Given the description of an element on the screen output the (x, y) to click on. 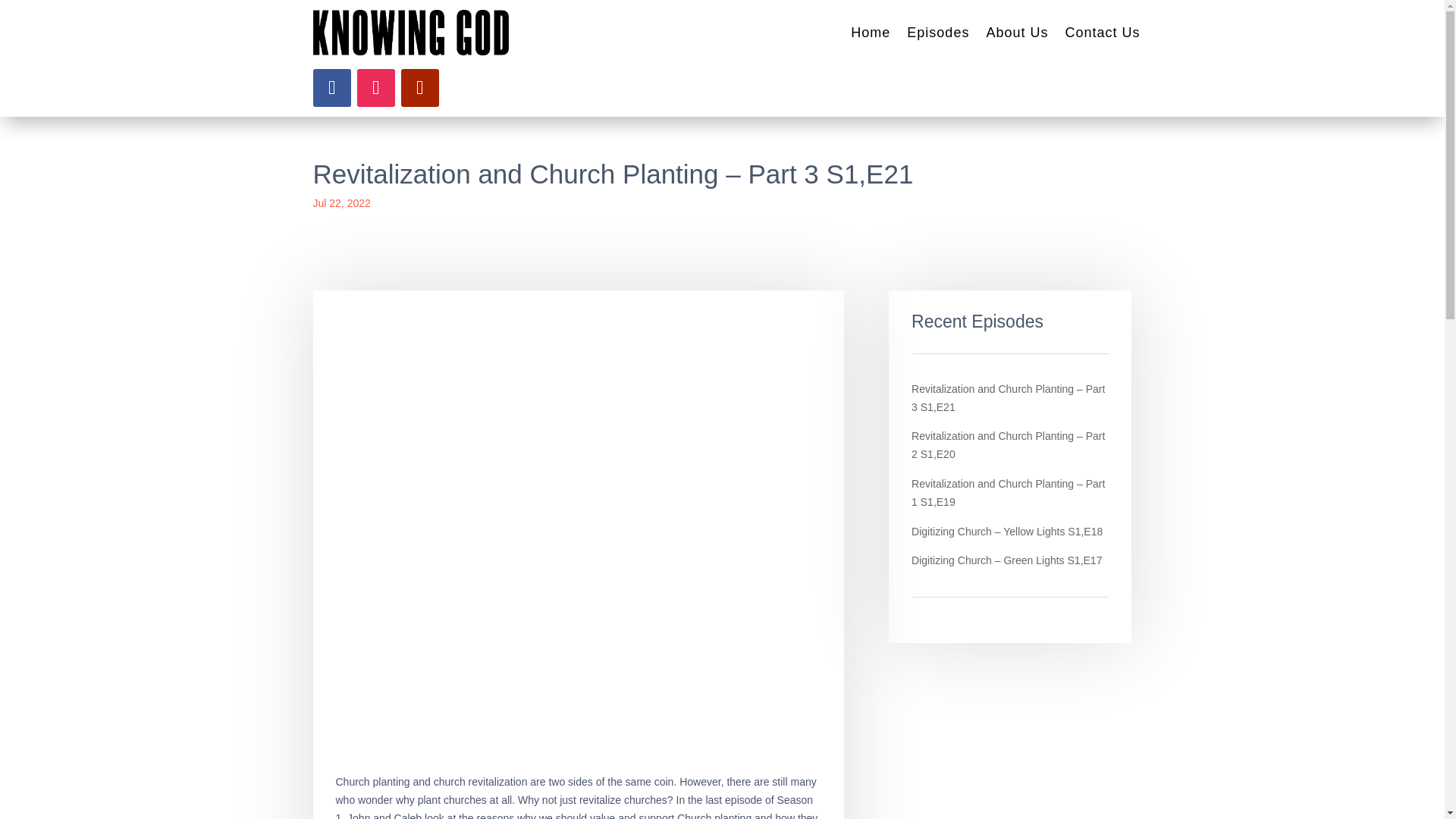
Episodes (938, 32)
About Us (1016, 32)
Follow on Youtube (419, 87)
Follow on Instagram (375, 87)
Follow on Facebook (331, 87)
Contact Us (1102, 32)
